Given the description of an element on the screen output the (x, y) to click on. 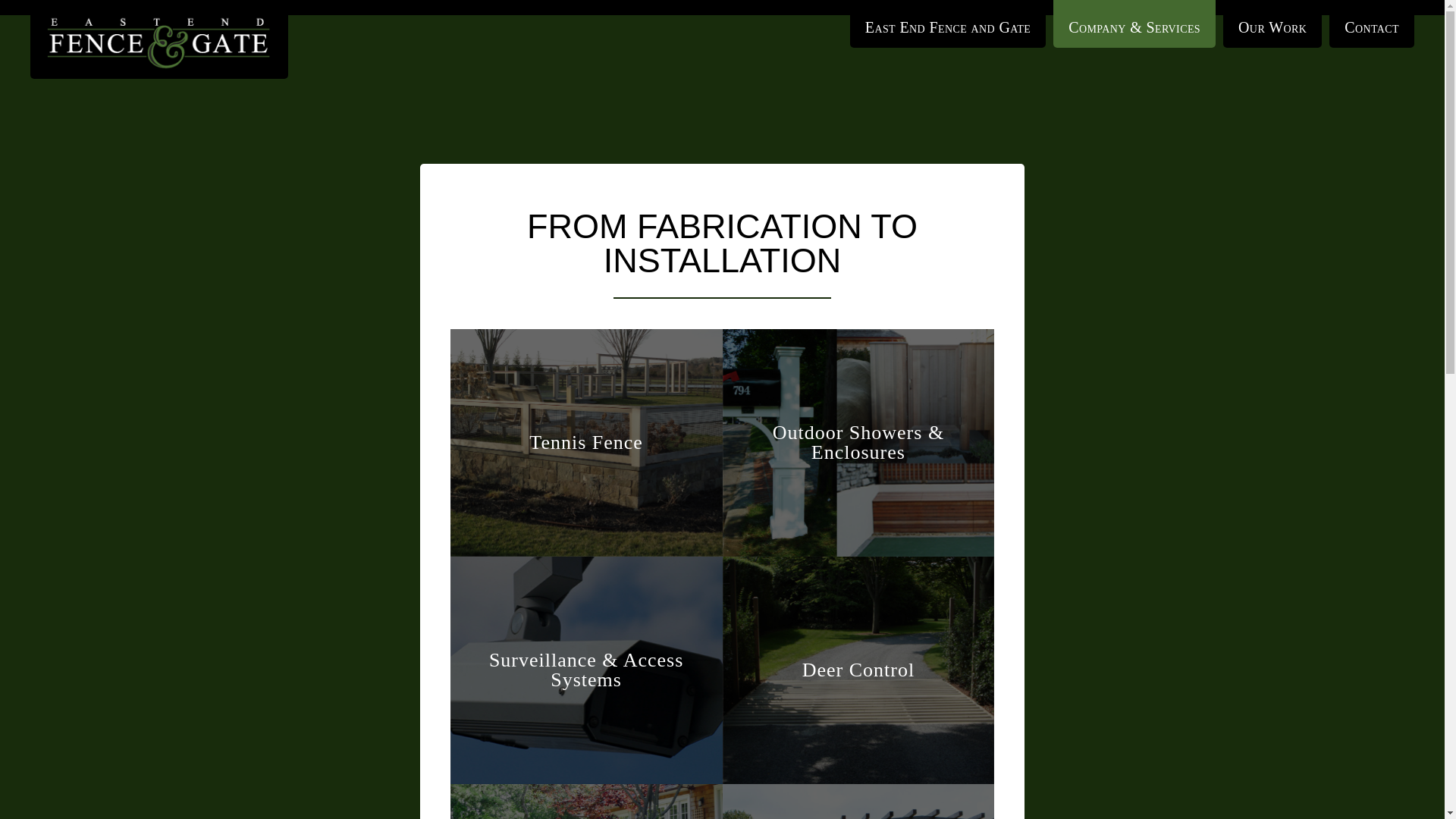
Tennis Fence (585, 442)
Contact (1371, 23)
East End Fence and Gate (947, 23)
Our Work (1272, 23)
Landscape Design (585, 801)
Deer Control (858, 669)
